Given the description of an element on the screen output the (x, y) to click on. 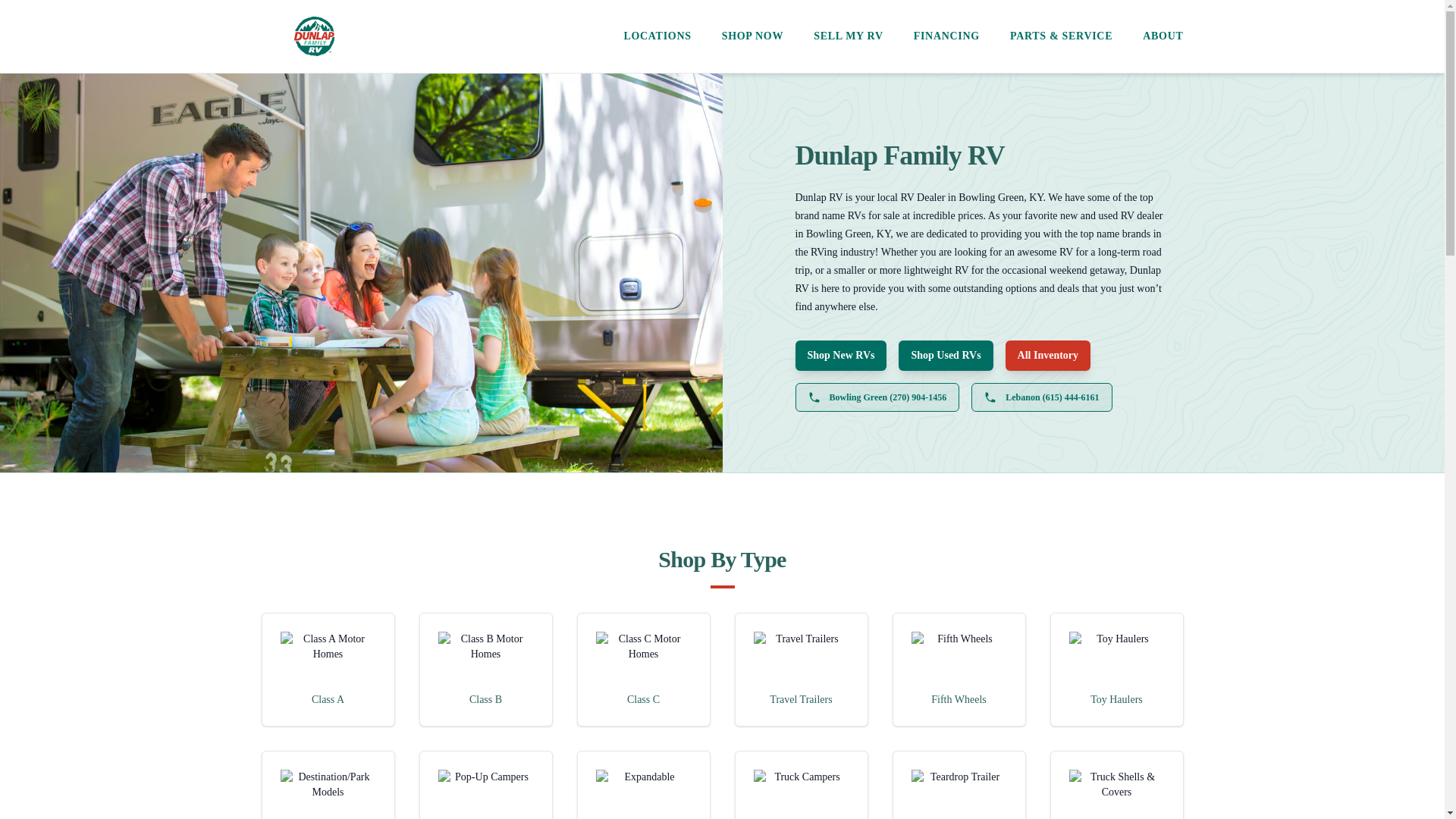
Class A (328, 669)
Pop-up Campers (486, 794)
Fifth Wheels (959, 669)
Class B (486, 669)
Truck Shells (1116, 794)
Shop New RVs (840, 355)
Toy Haulers (1116, 669)
Shop Used RVs (945, 355)
Teardrop Trailers (959, 794)
Travel Trailers (801, 669)
